Given the description of an element on the screen output the (x, y) to click on. 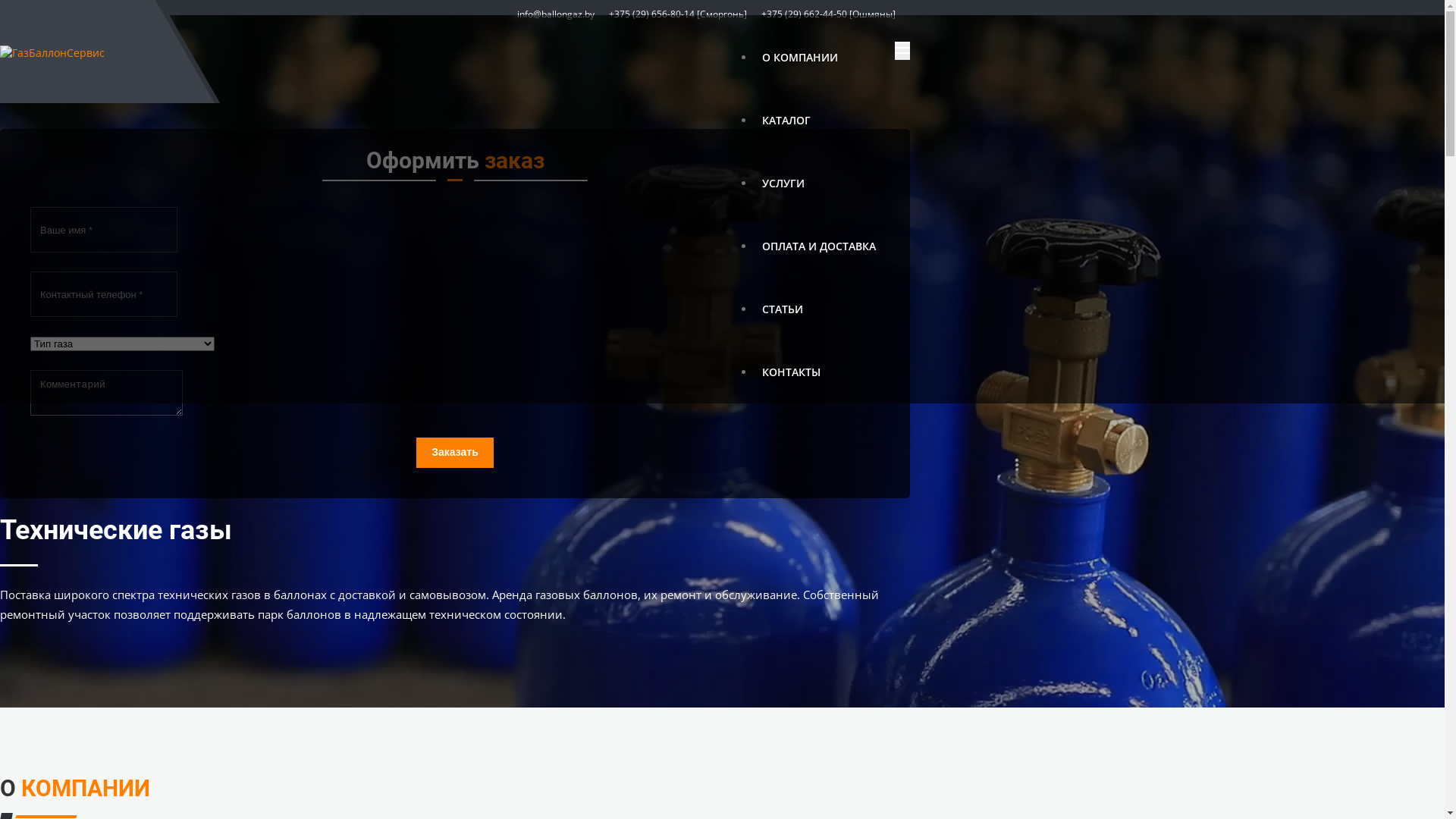
+375 (29) 662-44-50 Element type: text (470, 659)
smorgon@ballongaz.by Element type: text (470, 517)
info@ballongaz.by Element type: text (555, 13)
+375 (29) 662-44-50 Element type: text (804, 13)
oshmyany@ballongaz.by Element type: text (470, 693)
+375 (29) 656-80-14 Element type: text (651, 13)
+375 (29) 656-80-14 Element type: text (470, 483)
